Given the description of an element on the screen output the (x, y) to click on. 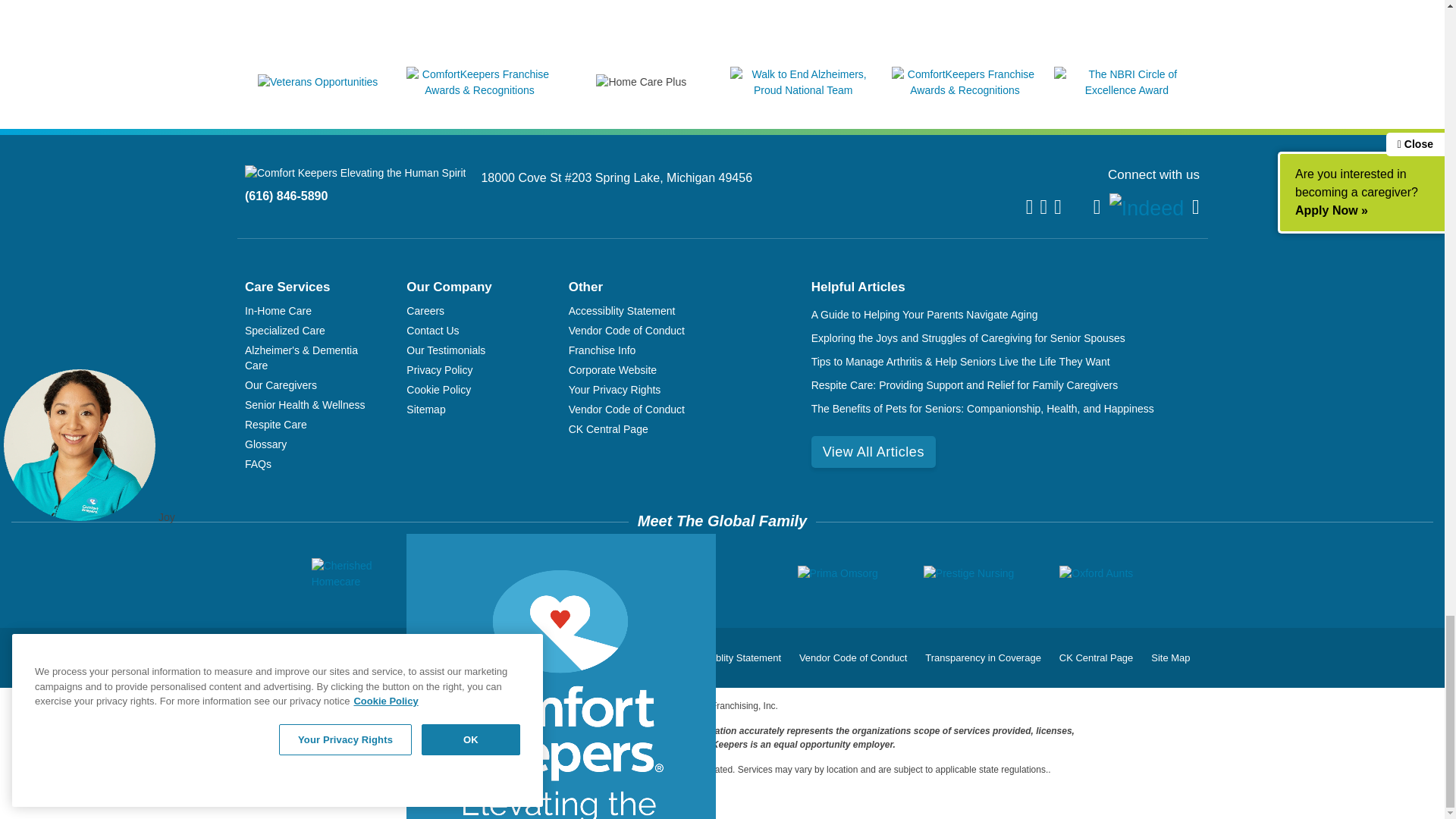
Prestige Nursing (968, 573)
Prima Omsorg (837, 573)
Prima Assistanse (706, 573)
Indeed (1147, 208)
Oxford Aunts (1095, 573)
Learn more about the NBRI Circle of Excellence Award (1126, 90)
Cherished Homecare (357, 573)
Abri (463, 573)
Walk to End Alzheimers, Proud National Team (803, 90)
Veterans Opportunities (317, 81)
The Good Care Group (569, 573)
Indeed (1147, 208)
